Given the description of an element on the screen output the (x, y) to click on. 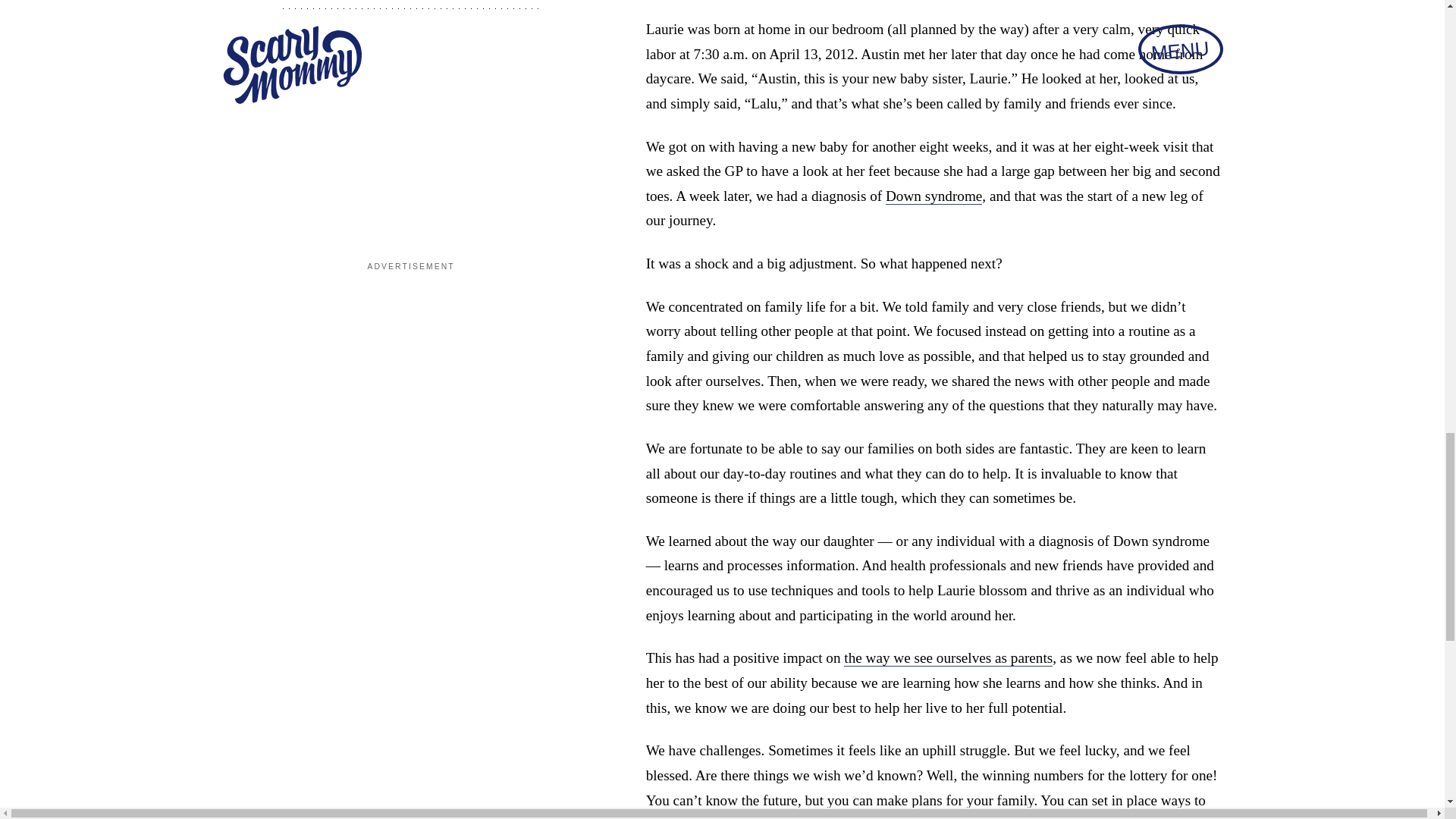
the way we see ourselves as parents (948, 658)
Down syndrome (933, 196)
